Given the description of an element on the screen output the (x, y) to click on. 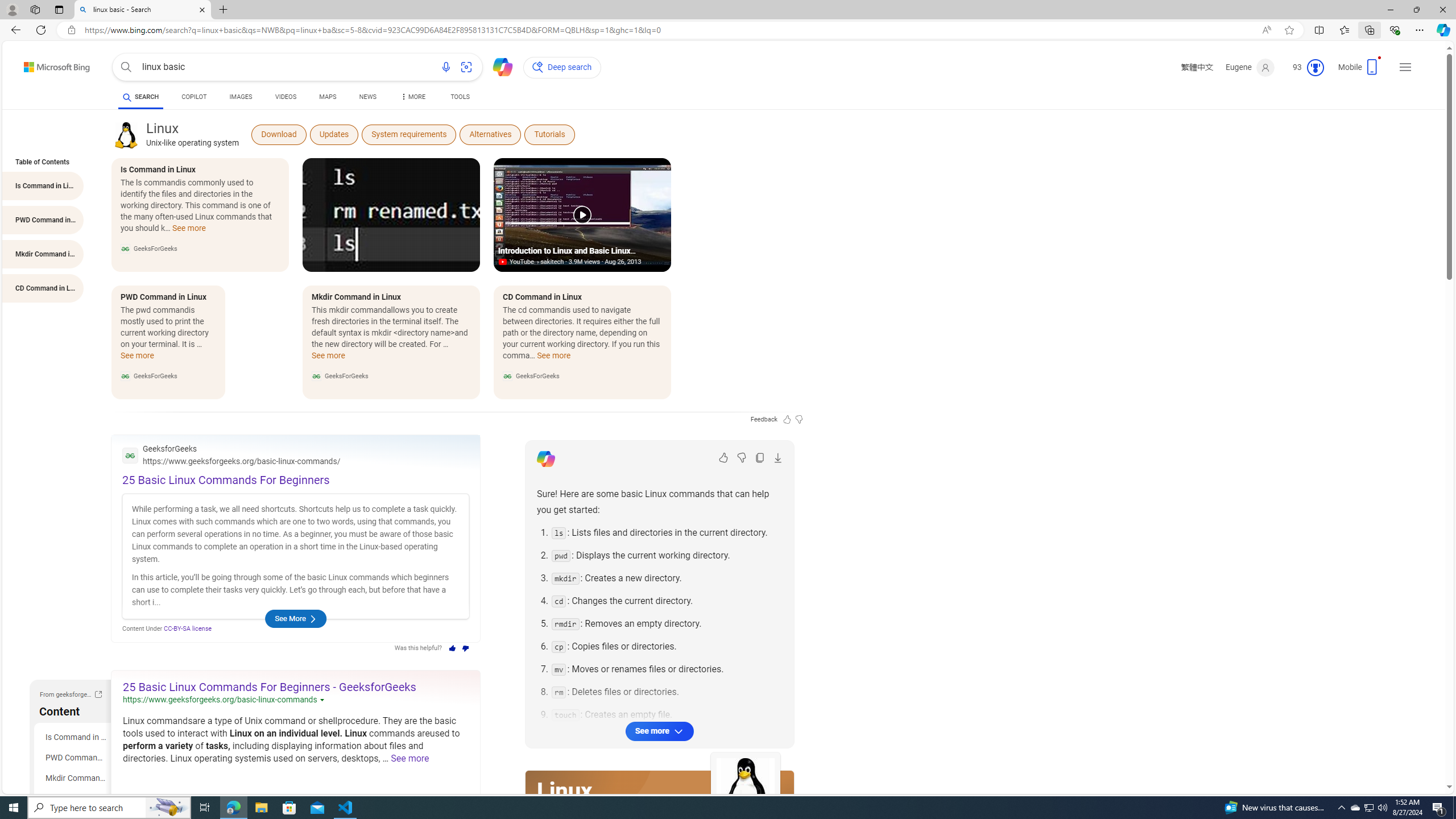
AutomationID: b-scopeListItem-news (367, 98)
Mkdir Command in Linux (74, 778)
Feedback Like (786, 418)
AutomationID: b-scopeListItem-images (240, 98)
AutomationID: mfa_root (1406, 752)
See more images of Linux (745, 787)
Search button (126, 66)
